Given the description of an element on the screen output the (x, y) to click on. 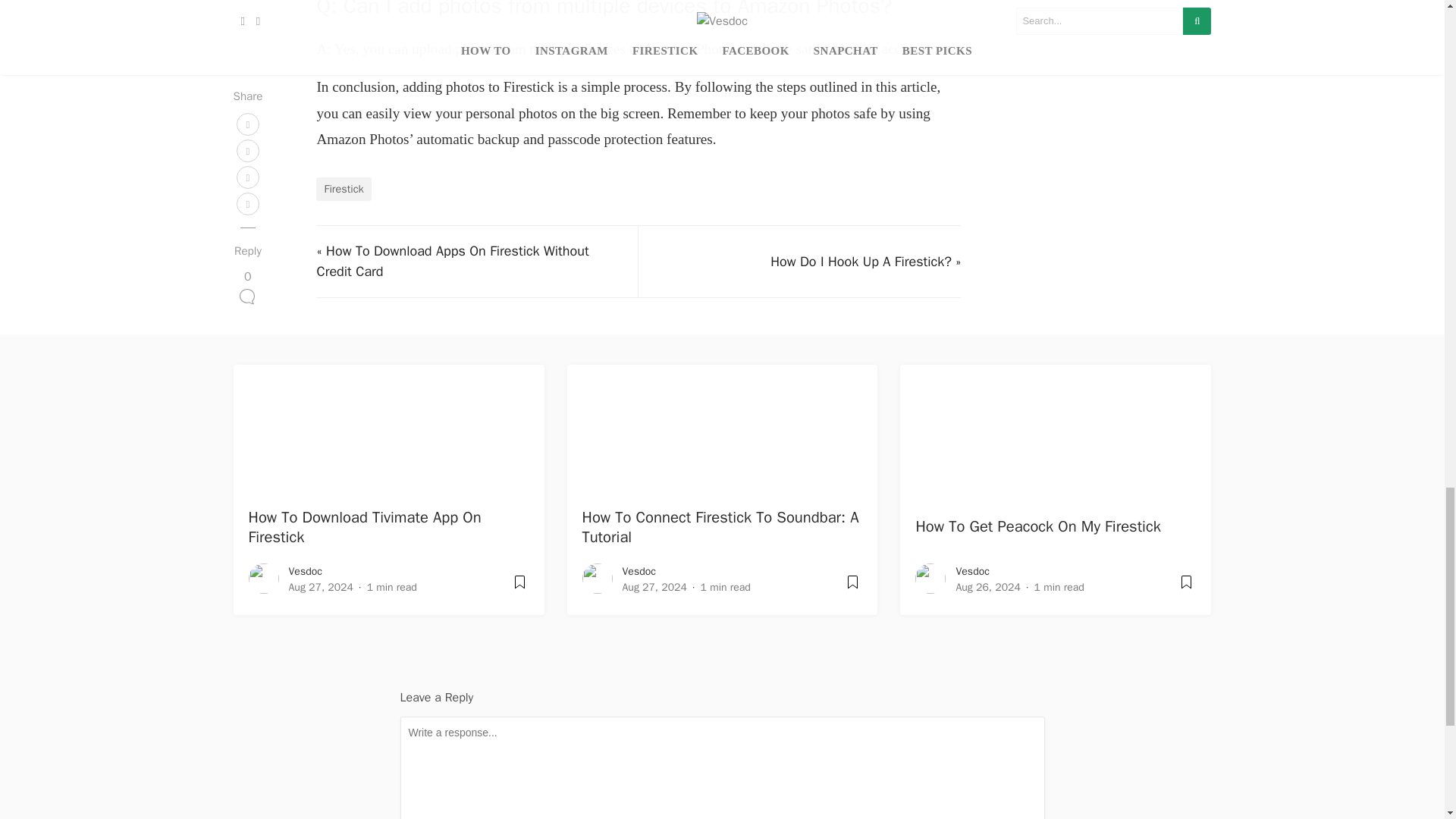
Firestick (343, 189)
Vesdoc (304, 571)
How To Download Tivimate App On Firestick (364, 526)
How Do I Hook Up A Firestick? (861, 261)
How To Download Apps On Firestick Without Credit Card (451, 261)
